Given the description of an element on the screen output the (x, y) to click on. 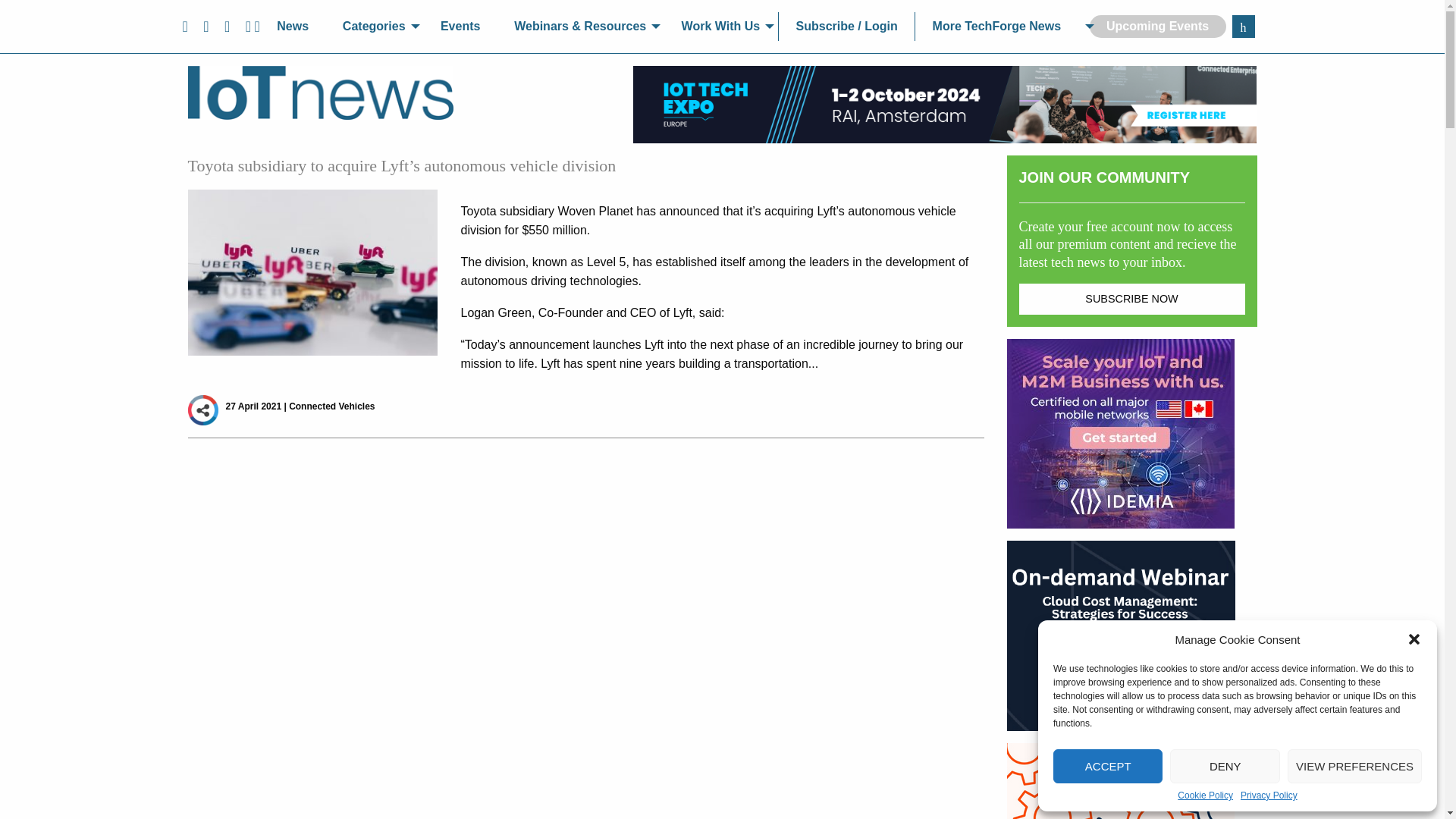
ACCEPT (1106, 765)
DENY (1224, 765)
News (293, 26)
VIEW PREFERENCES (1354, 765)
GO (1242, 26)
Privacy Policy (1268, 795)
GO (1242, 26)
Cookie Policy (1205, 795)
Categories (373, 26)
Search for: (1242, 26)
Back to top (1410, 784)
